Given the description of an element on the screen output the (x, y) to click on. 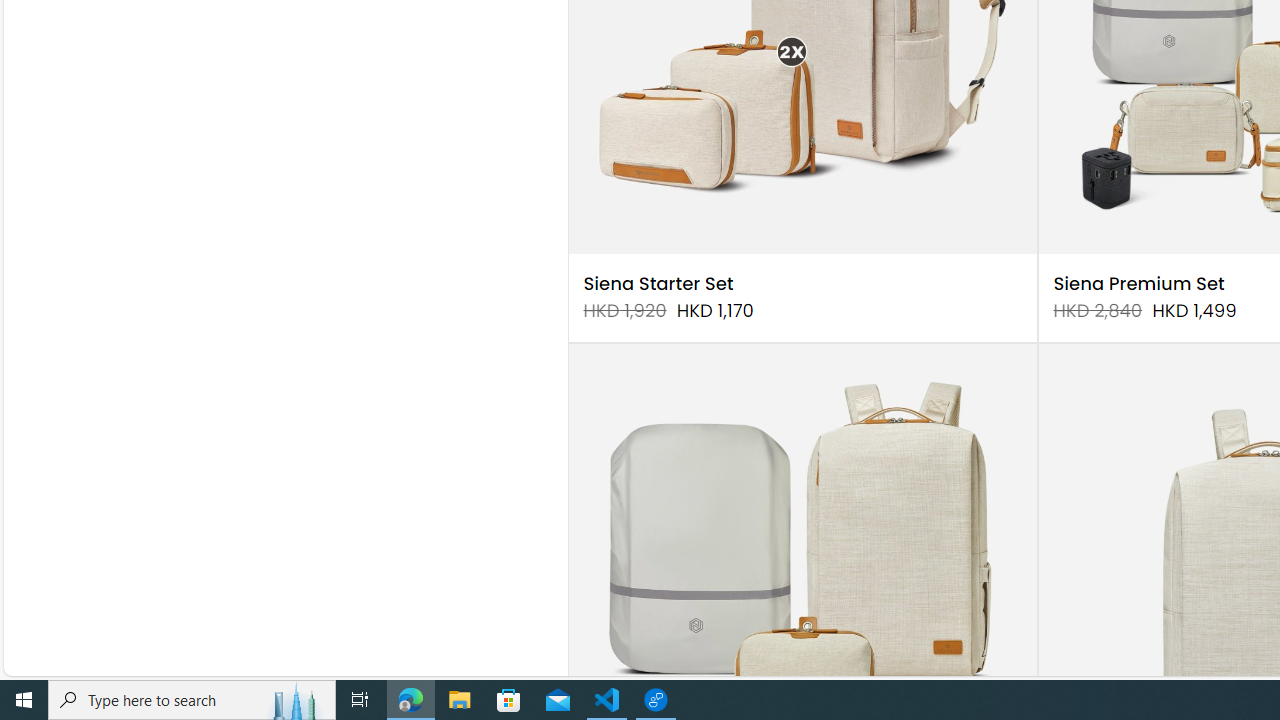
Siena Premium Set (1138, 283)
Siena Starter Set (657, 283)
